Given the description of an element on the screen output the (x, y) to click on. 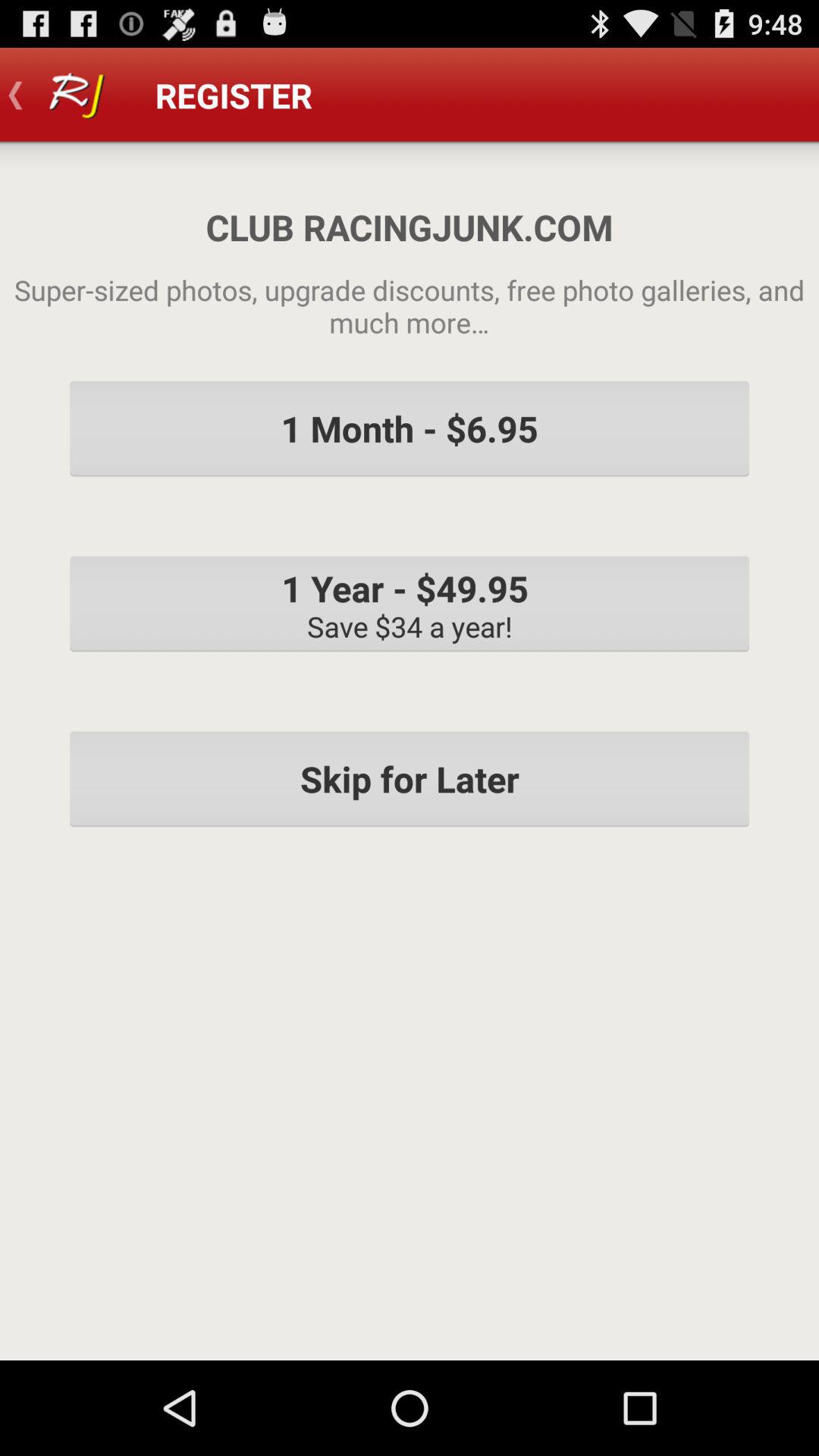
open the icon above the 1 year 49 item (409, 428)
